Given the description of an element on the screen output the (x, y) to click on. 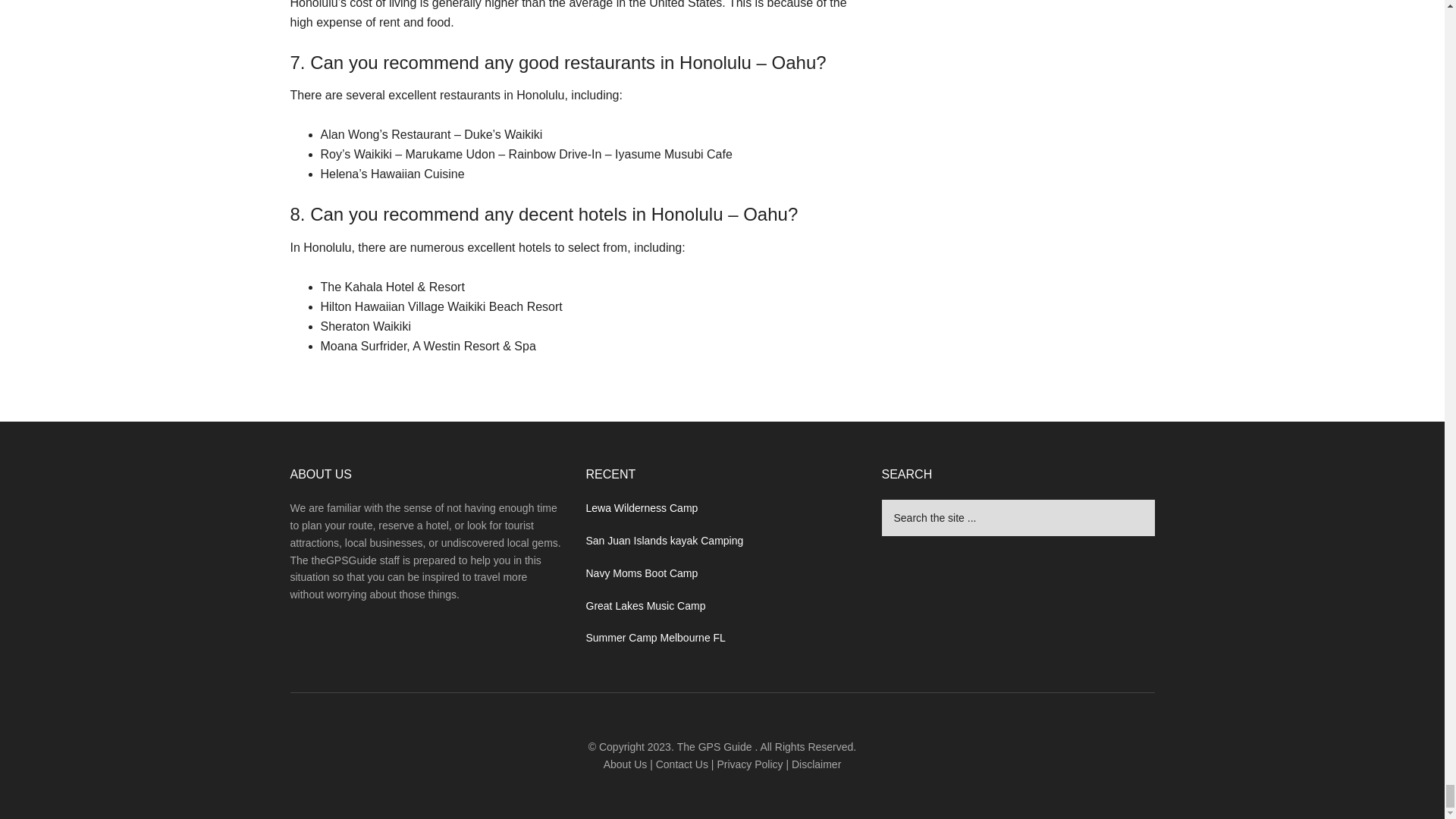
Contact Us (681, 764)
About Us (626, 764)
Navy Moms Boot Camp (641, 573)
San Juan Islands kayak Camping (663, 540)
Summer Camp Melbourne FL (655, 637)
Privacy Policy (749, 764)
Great Lakes Music Camp (644, 605)
The GPS Guide (714, 746)
